Given the description of an element on the screen output the (x, y) to click on. 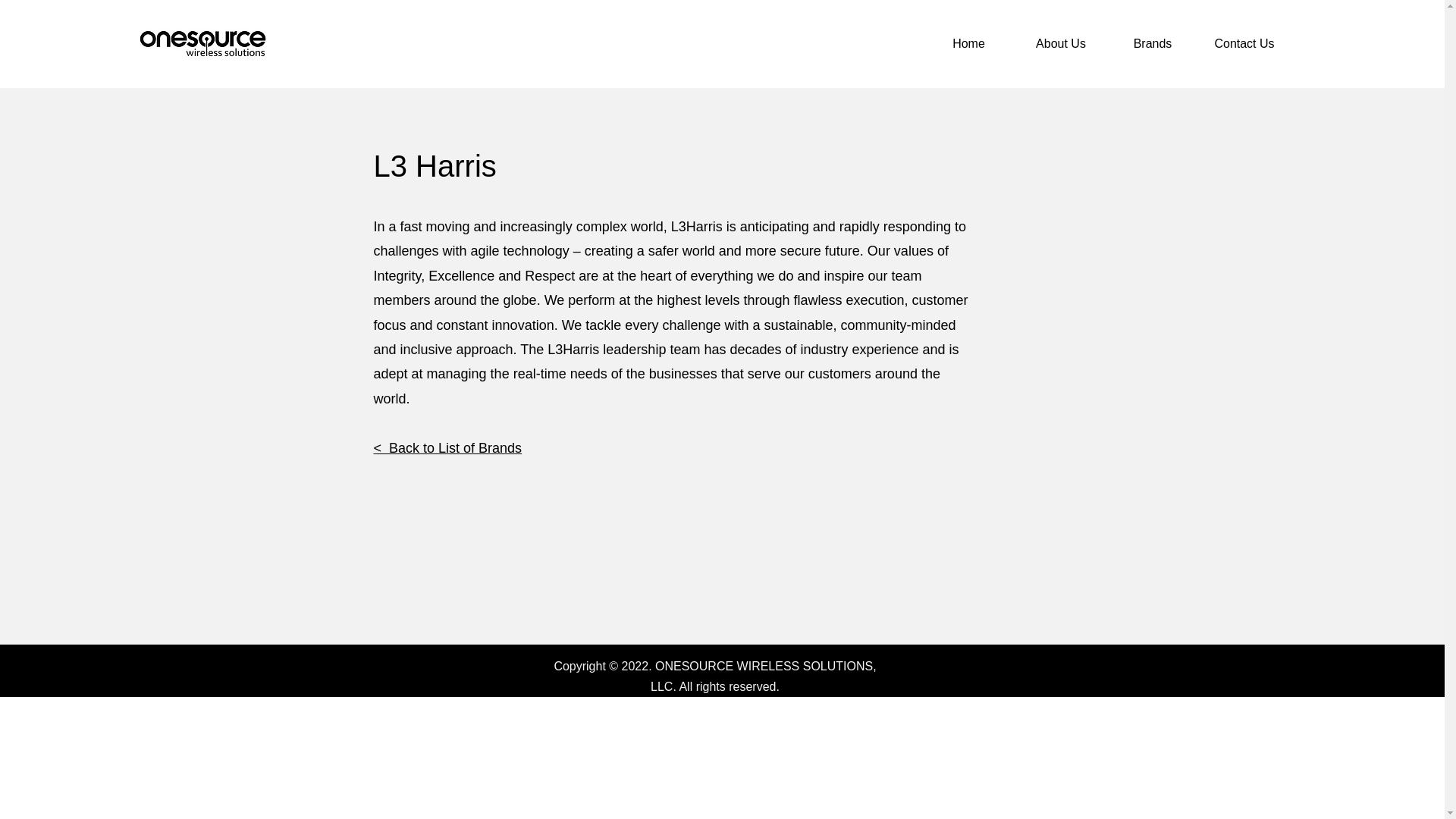
Brands (1152, 44)
Home (967, 44)
About Us (1060, 44)
Contact Us (1244, 44)
